Given the description of an element on the screen output the (x, y) to click on. 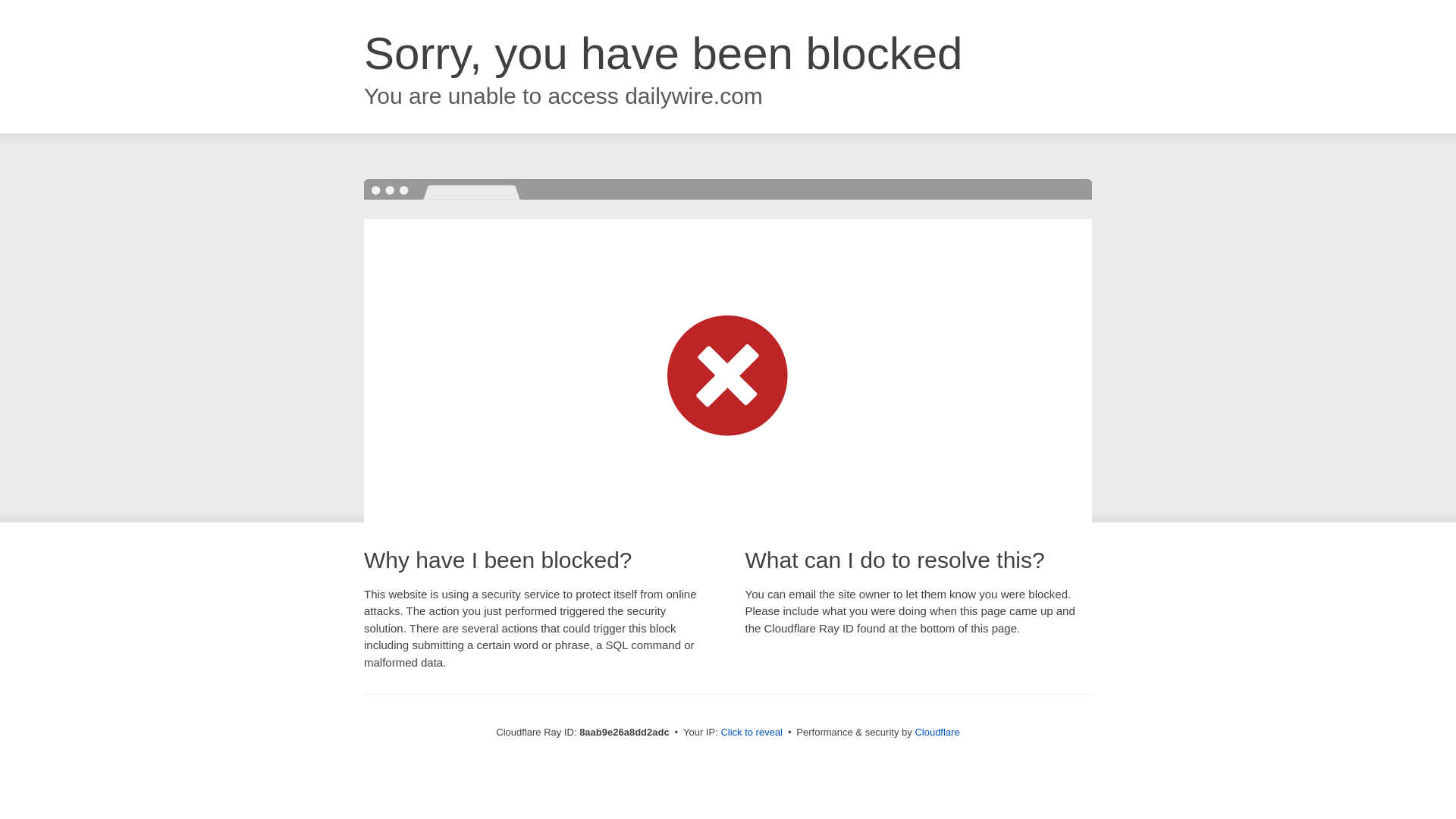
Click to reveal (751, 732)
Cloudflare (936, 731)
